Given the description of an element on the screen output the (x, y) to click on. 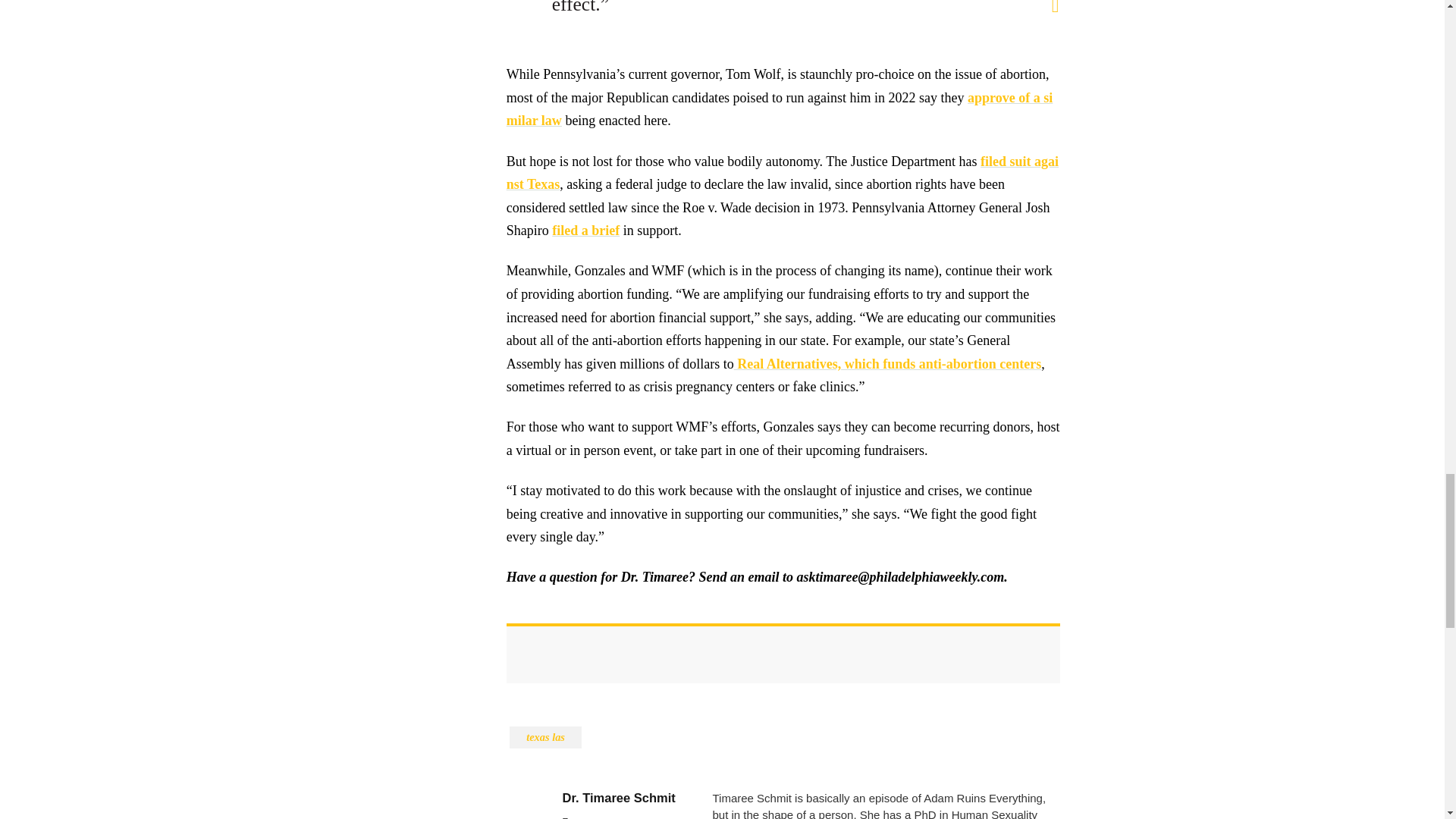
 texas las  (545, 737)
